Given the description of an element on the screen output the (x, y) to click on. 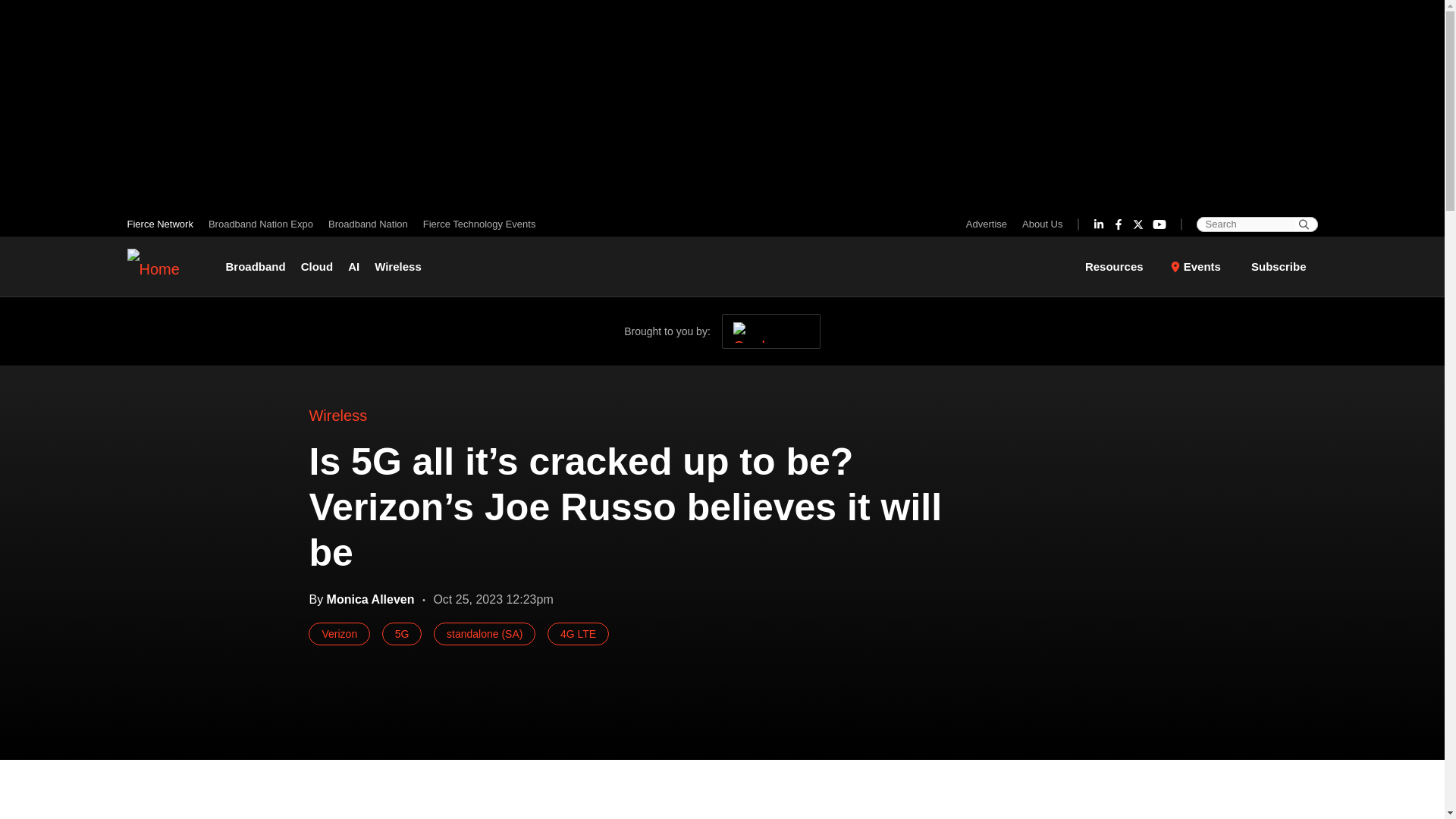
Resources (1122, 266)
Fierce Network (164, 224)
Advertise (990, 224)
Subscribe (1278, 265)
About Us (1038, 224)
Broadband Nation (367, 224)
Broadband (259, 266)
AI (353, 266)
Fierce Technology Events (474, 224)
Broadband Nation Expo (260, 224)
Cloud (317, 266)
Wireless (397, 266)
